Given the description of an element on the screen output the (x, y) to click on. 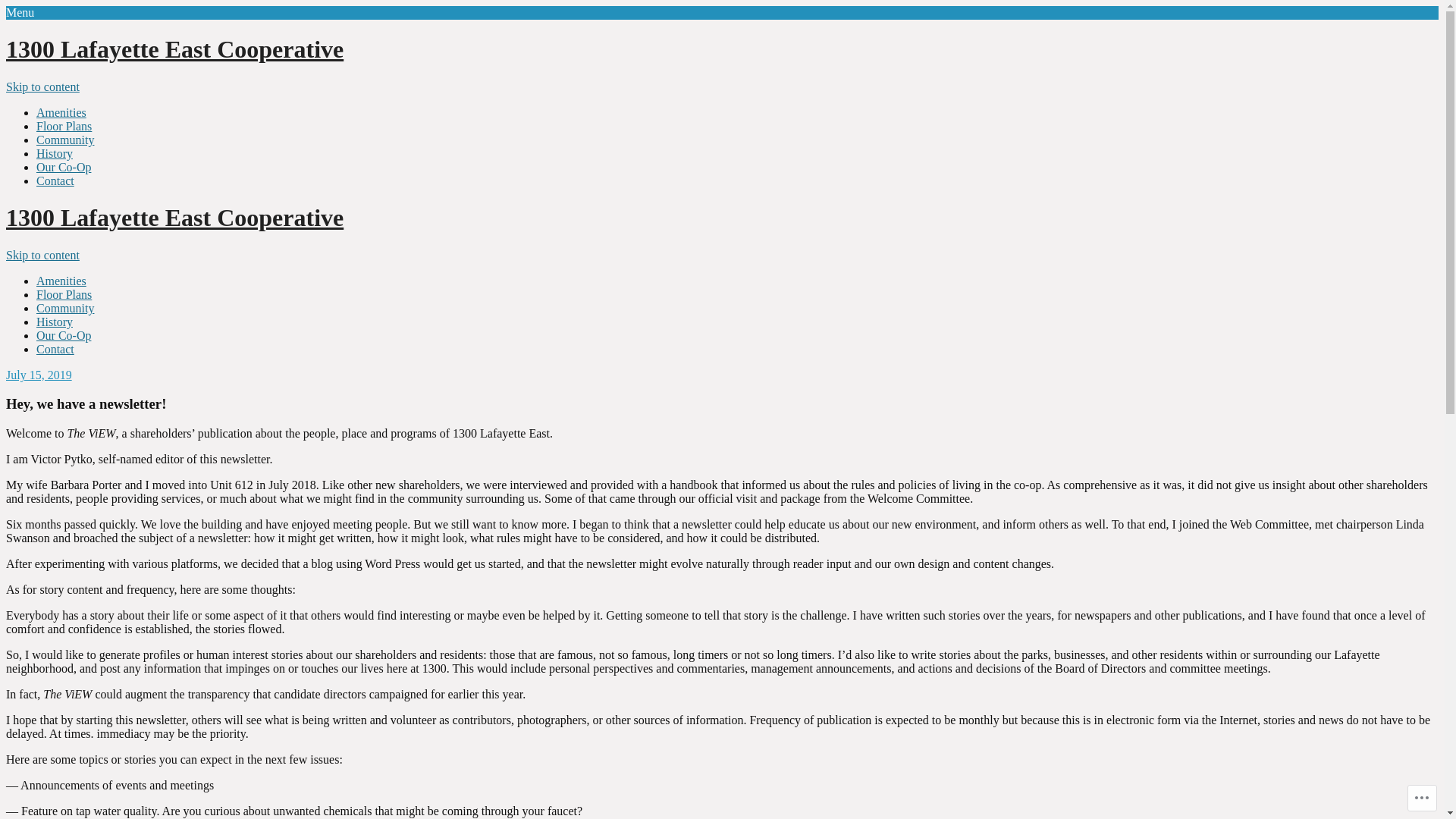
Amenities Element type: text (61, 280)
Floor Plans Element type: text (63, 294)
Contact Element type: text (55, 348)
History Element type: text (54, 321)
Our Co-Op Element type: text (63, 166)
1300 Lafayette East Cooperative Element type: text (174, 48)
Amenities Element type: text (61, 112)
Floor Plans Element type: text (63, 125)
History Element type: text (54, 153)
July 15, 2019 Element type: text (39, 374)
Community Element type: text (65, 139)
1300 Lafayette East Cooperative Element type: text (174, 217)
Skip to content Element type: text (42, 86)
Contact Element type: text (55, 180)
Skip to content Element type: text (42, 254)
Our Co-Op Element type: text (63, 335)
Community Element type: text (65, 307)
